Given the description of an element on the screen output the (x, y) to click on. 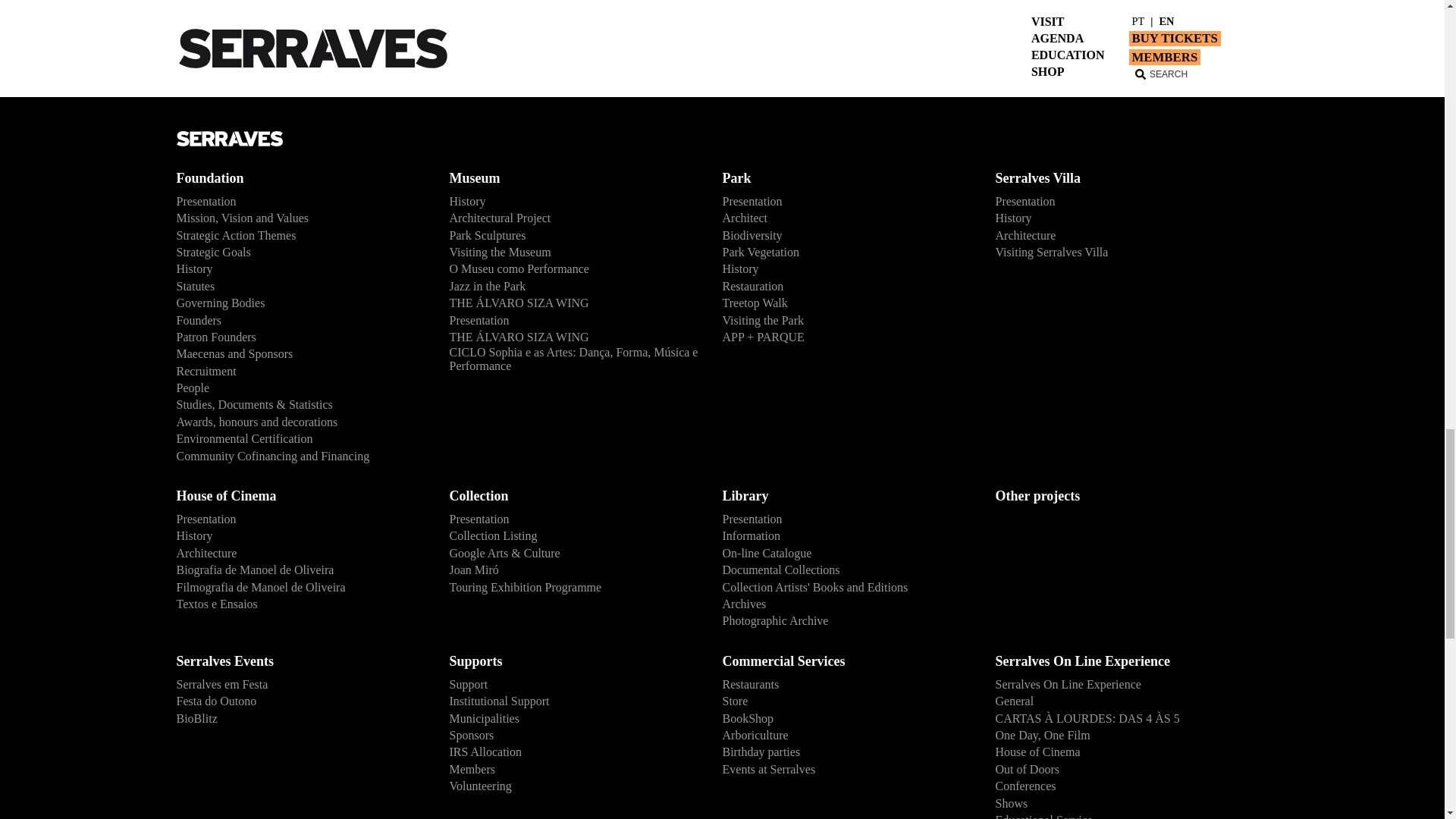
Awards, honours and decorations (300, 421)
Mission, Vision and Values (300, 217)
Statutes (300, 285)
Park Sculptures (572, 234)
Architectural Project (572, 217)
Presentation (300, 200)
Founders (300, 320)
Strategic Goals (300, 251)
Environmental Certification (300, 438)
O Museu como Performance (572, 269)
